Given the description of an element on the screen output the (x, y) to click on. 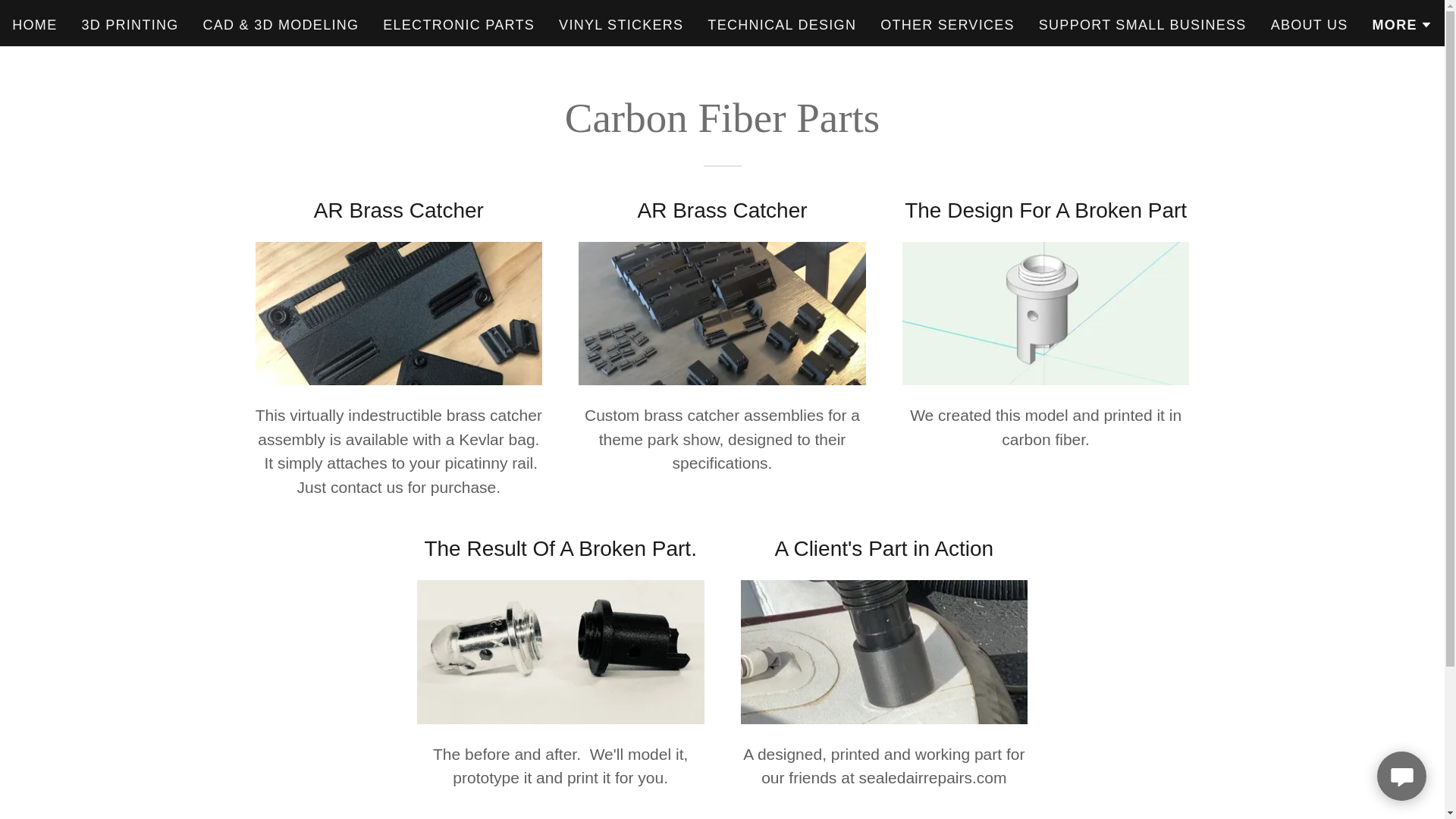
VINYL STICKERS (620, 24)
MORE (1402, 24)
ELECTRONIC PARTS (458, 24)
SUPPORT SMALL BUSINESS (1141, 24)
OTHER SERVICES (947, 24)
TECHNICAL DESIGN (781, 24)
HOME (34, 24)
3D PRINTING (130, 24)
ABOUT US (1309, 24)
